Given the description of an element on the screen output the (x, y) to click on. 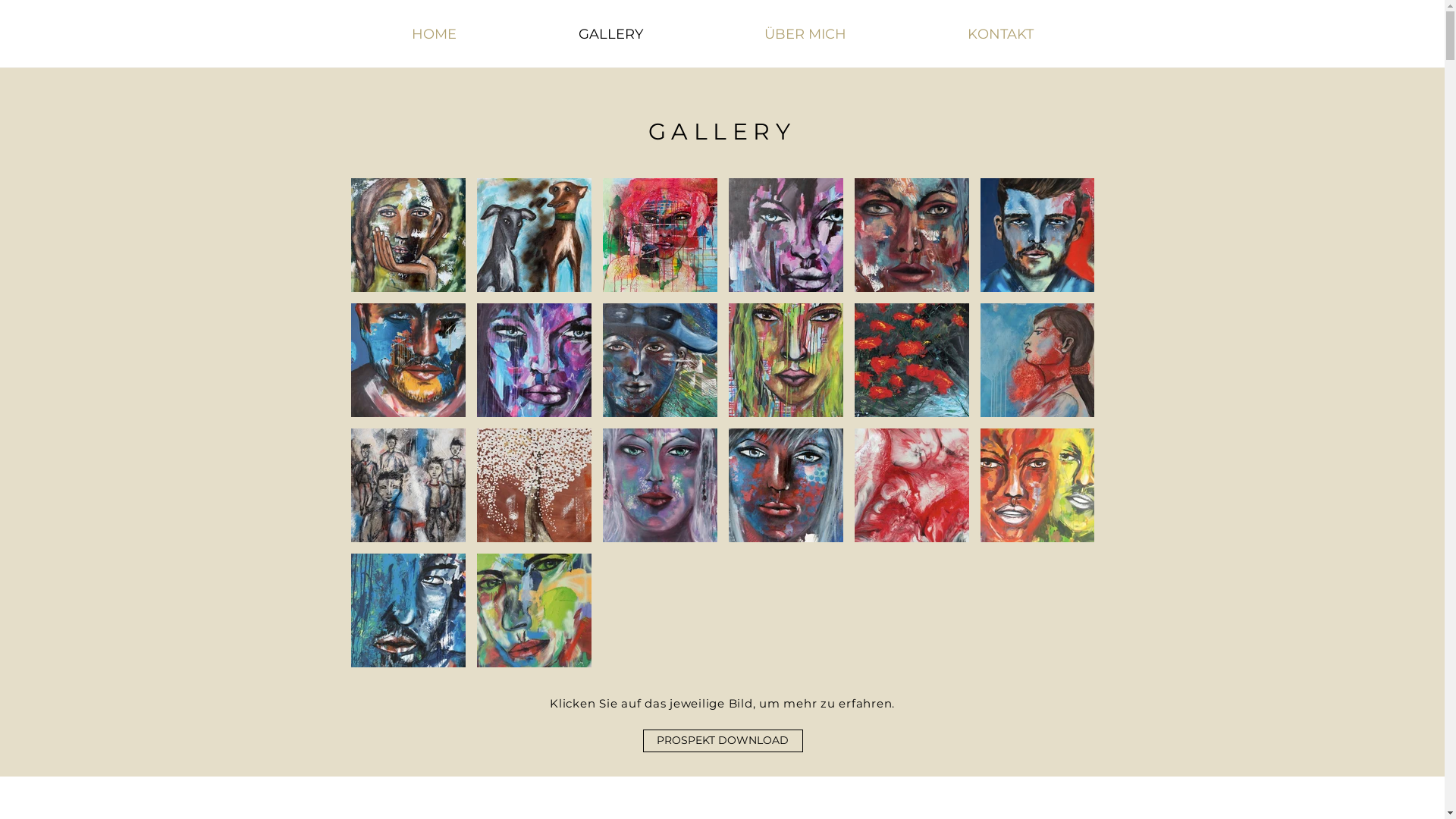
KONTAKT Element type: text (1000, 34)
PROSPEKT DOWNLOAD Element type: text (723, 740)
GALLERY Element type: text (722, 131)
HOME Element type: text (433, 34)
GALLERY Element type: text (609, 34)
